Given the description of an element on the screen output the (x, y) to click on. 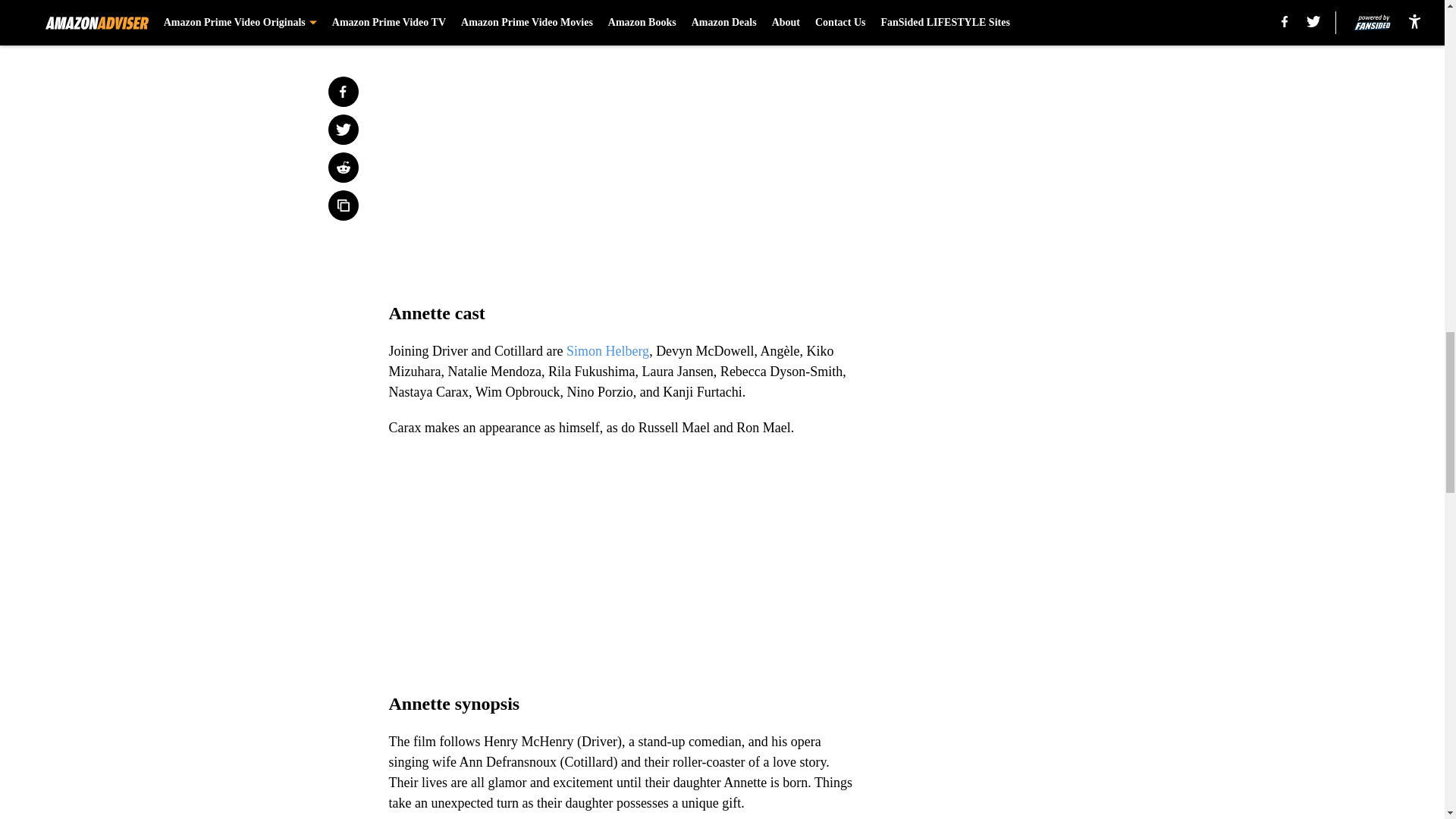
Simon Helberg (607, 350)
